Given the description of an element on the screen output the (x, y) to click on. 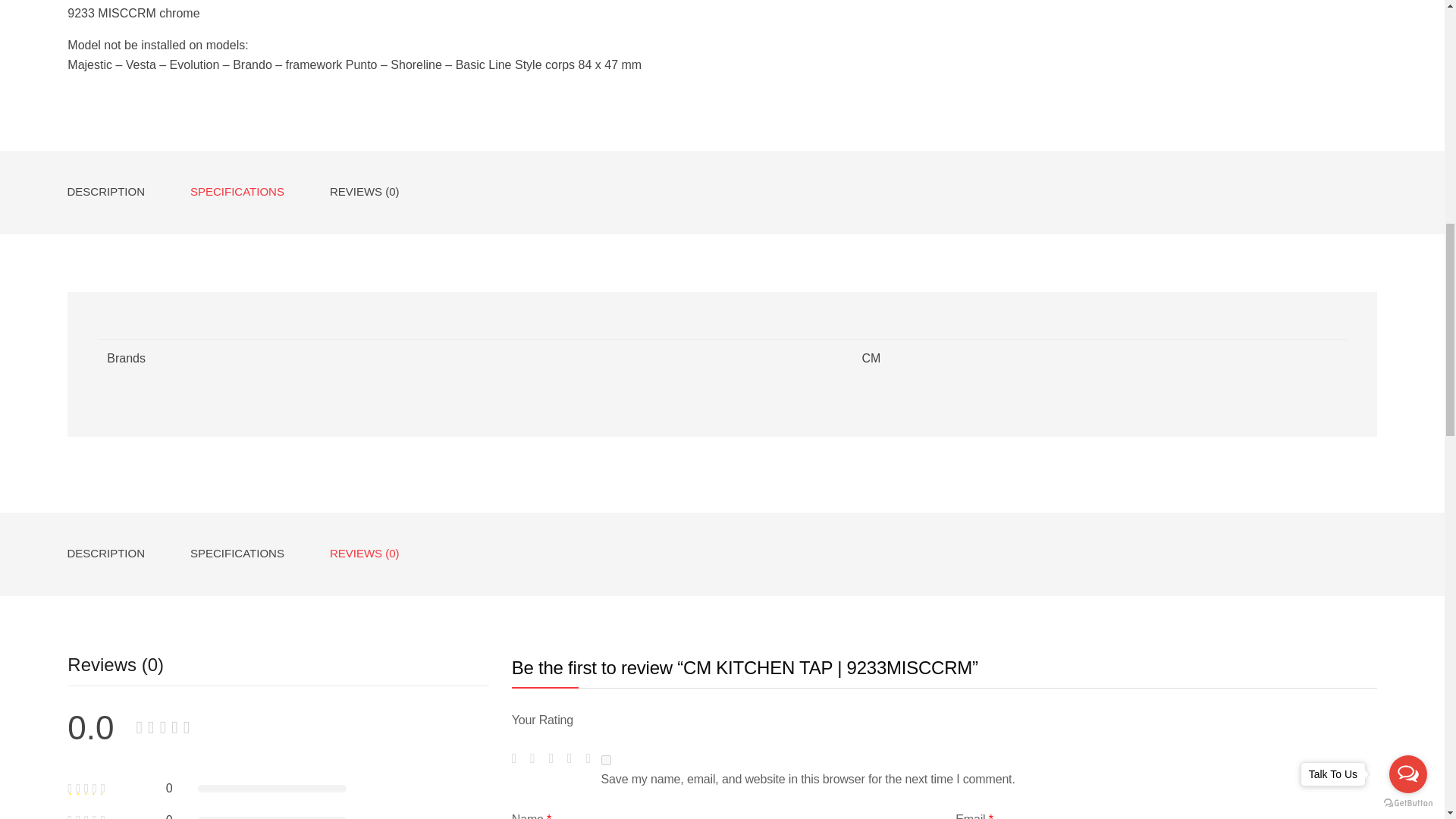
yes (606, 759)
